Given the description of an element on the screen output the (x, y) to click on. 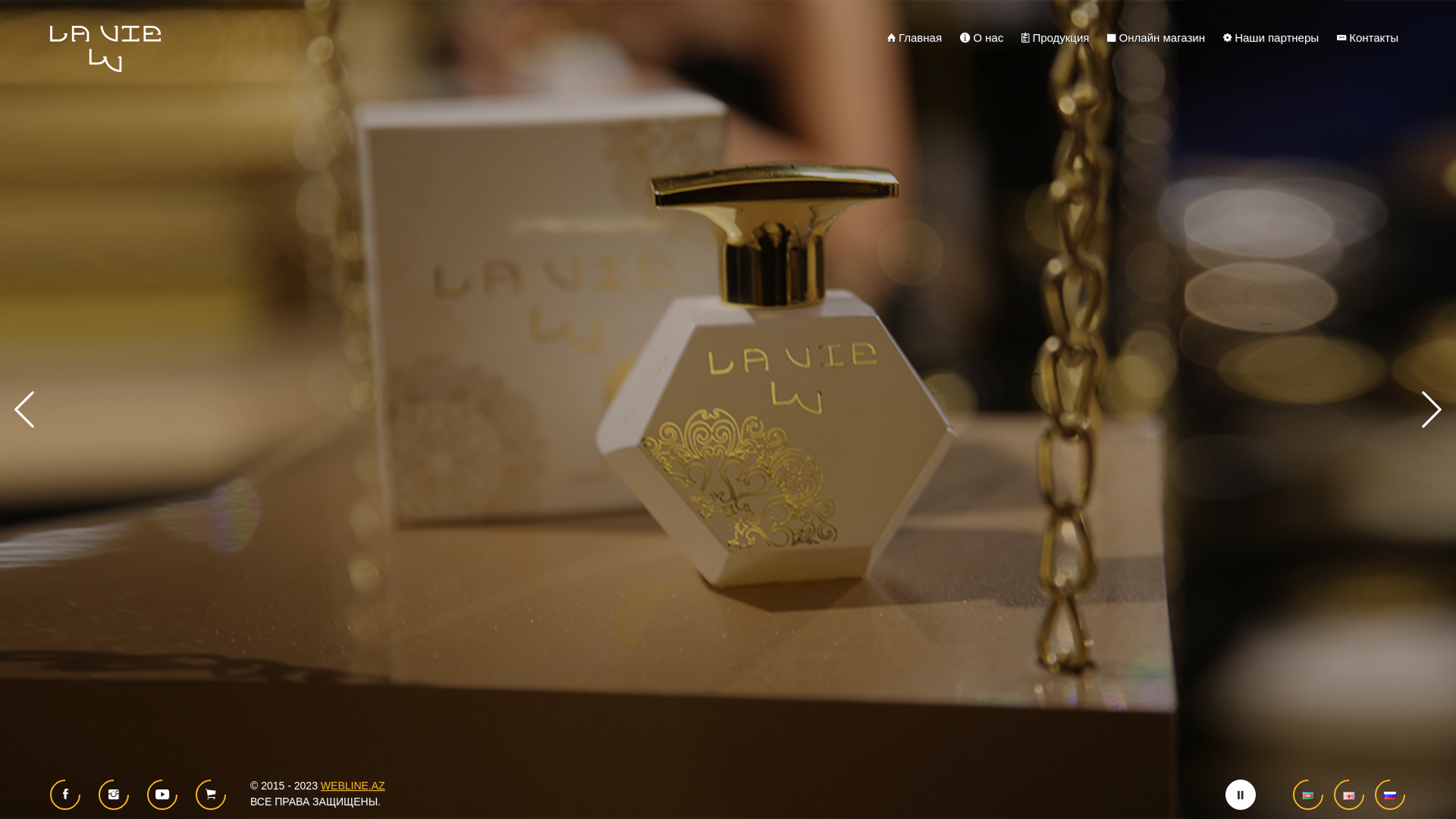
English Element type: hover (1348, 794)
WEBLINE.AZ Element type: text (352, 785)
